Given the description of an element on the screen output the (x, y) to click on. 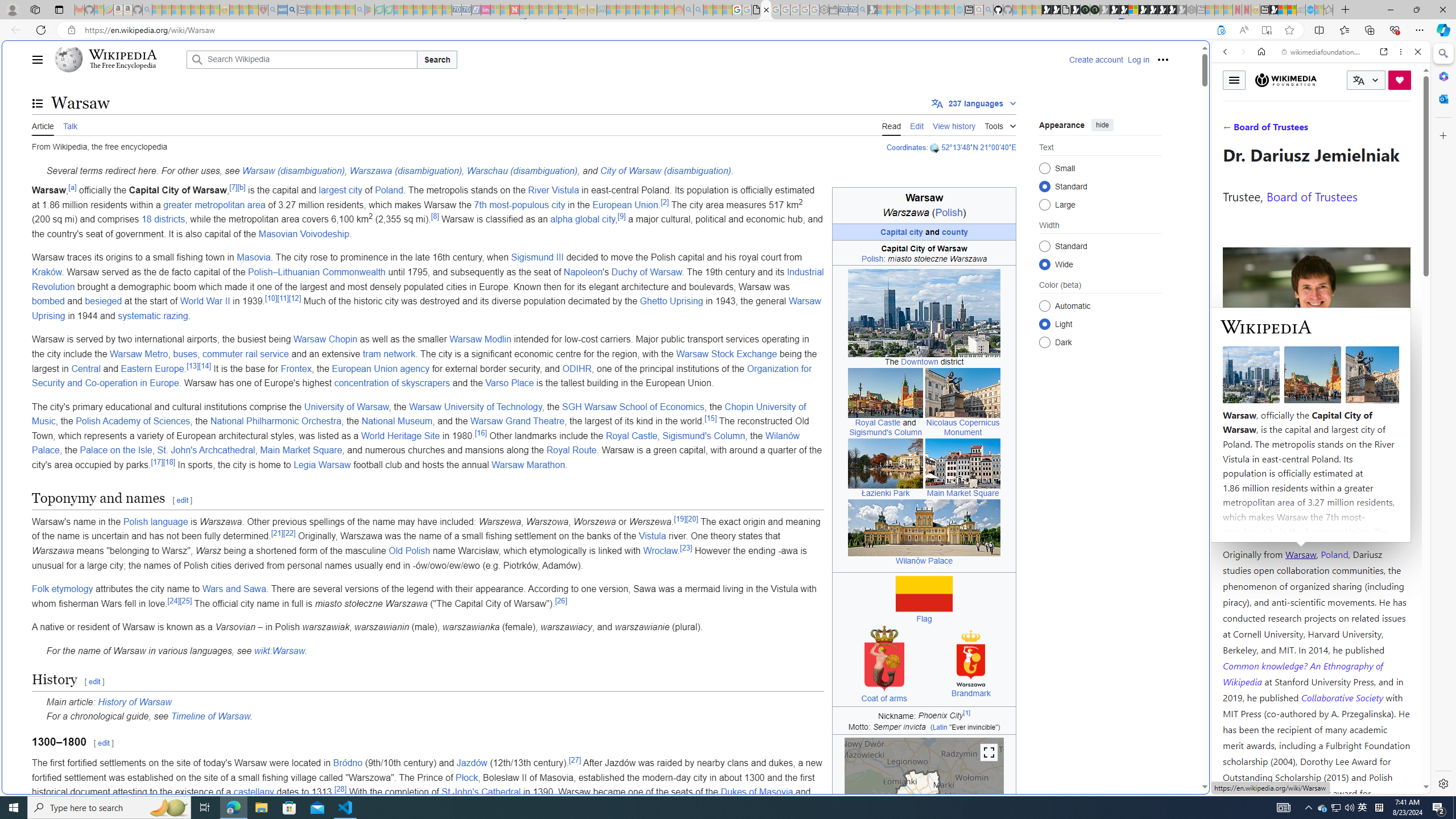
Folk etymology (62, 588)
Duchy of Warsaw (646, 271)
Masovia (252, 257)
[9] (621, 215)
Edit (917, 124)
Vistula (652, 536)
Warsaw business district from Novotel (924, 313)
Class: mw-list-item mw-list-item-js (1100, 323)
